Given the description of an element on the screen output the (x, y) to click on. 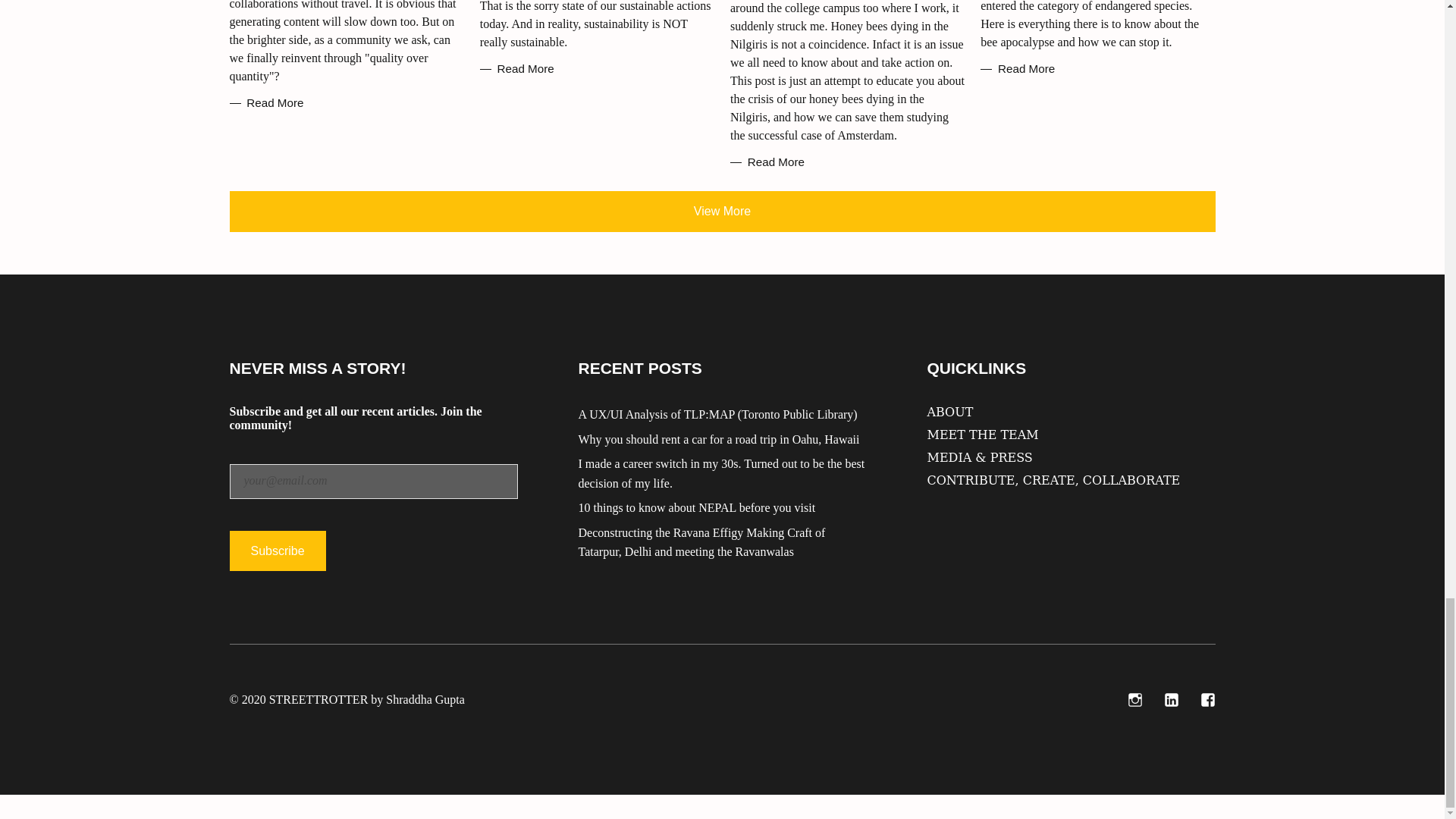
Subscribe (276, 550)
